Given the description of an element on the screen output the (x, y) to click on. 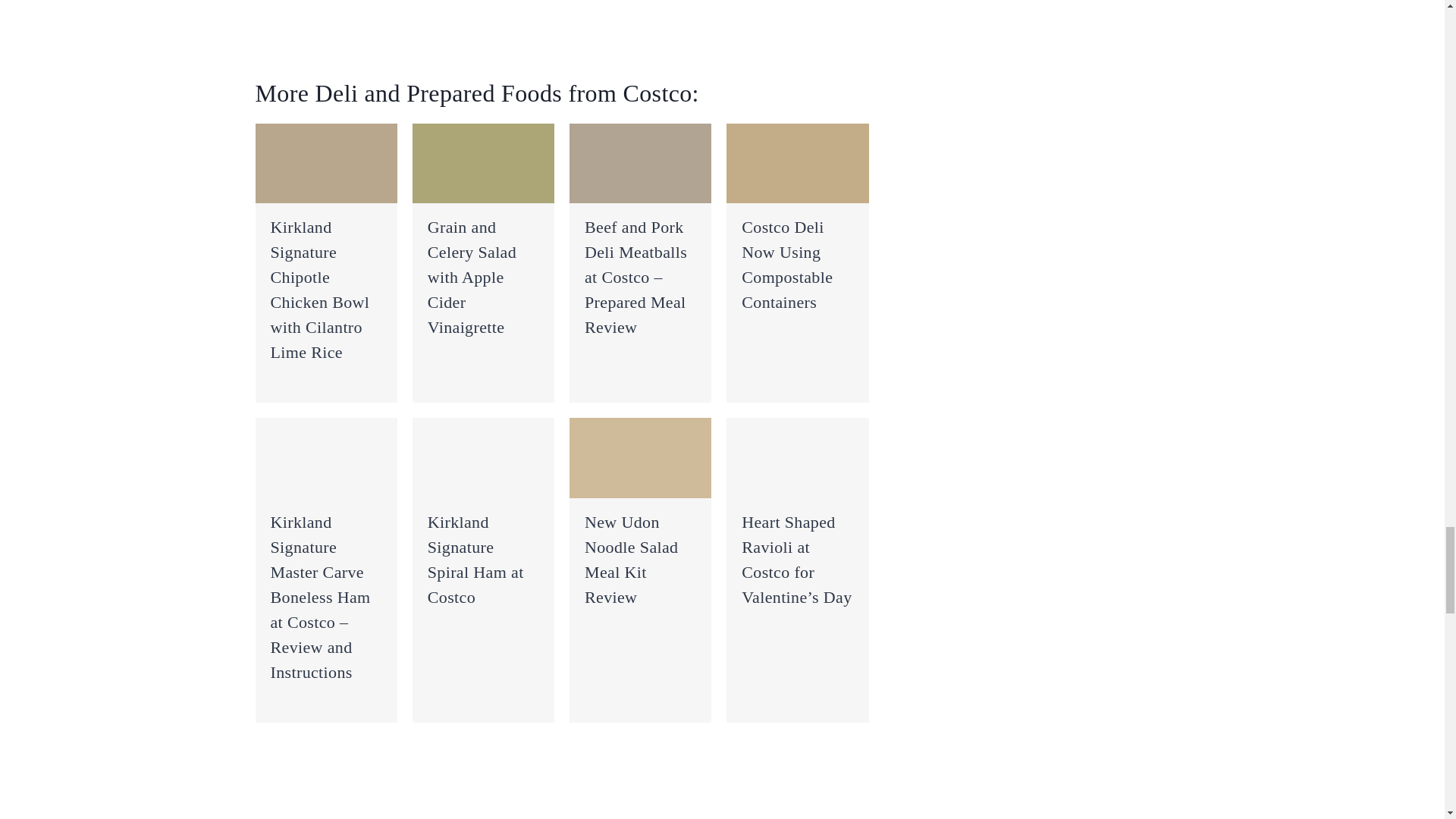
Main St Bistro Baked Scalloped Potatoes at Costco 7 (325, 457)
Main St Bistro Baked Scalloped Potatoes at Costco 6 (796, 163)
Main St Bistro Baked Scalloped Potatoes at Costco 5 (640, 163)
Main St Bistro Baked Scalloped Potatoes at Costco 9 (640, 457)
Main St Bistro Baked Scalloped Potatoes at Costco 8 (483, 457)
Main St Bistro Baked Scalloped Potatoes at Costco 10 (796, 457)
Main St Bistro Baked Scalloped Potatoes at Costco 3 (325, 163)
Main St Bistro Baked Scalloped Potatoes at Costco 4 (483, 163)
